Given the description of an element on the screen output the (x, y) to click on. 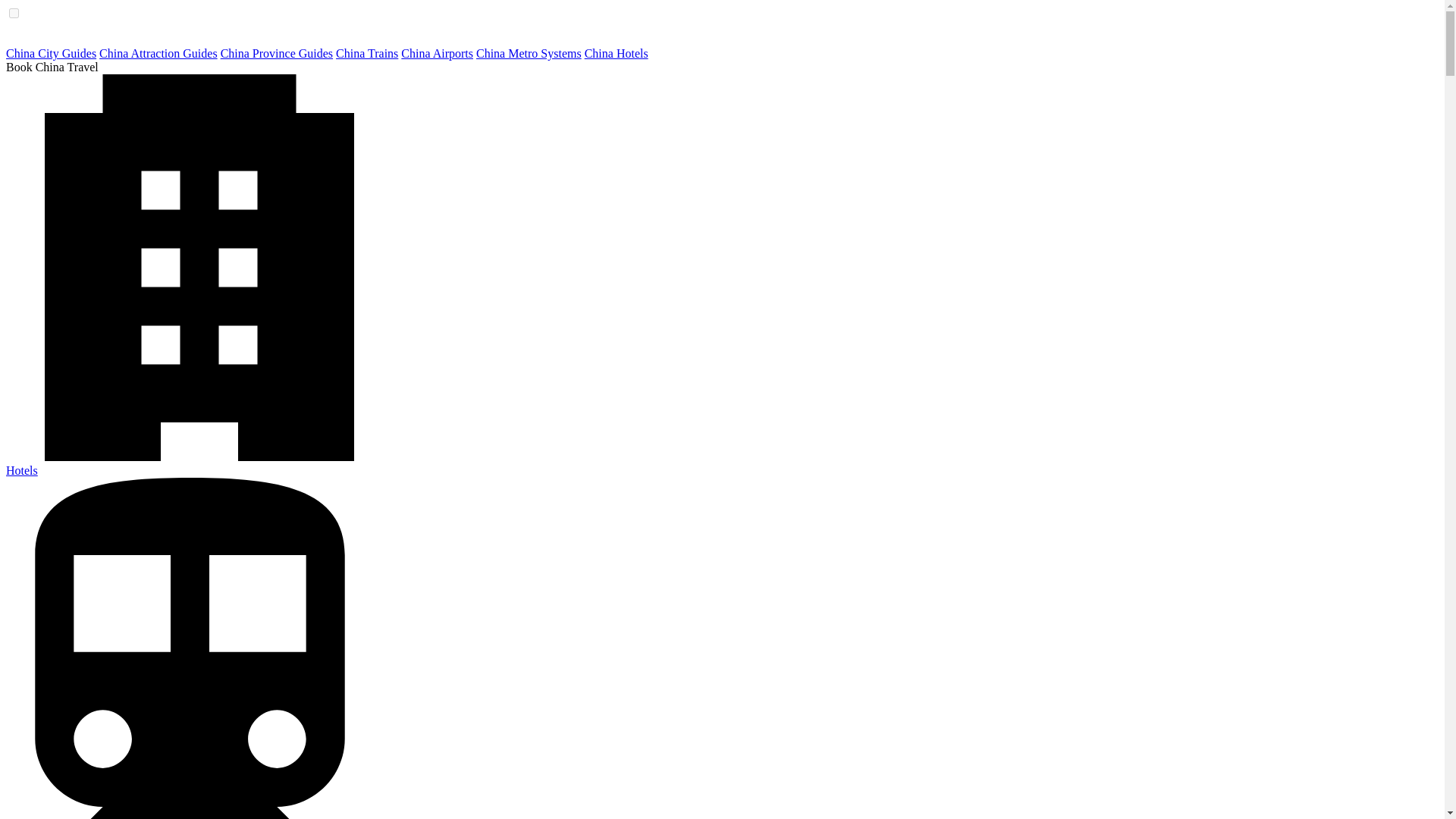
China Hotels (616, 52)
China Attraction Guides (157, 52)
on (13, 13)
China Province Guides (277, 52)
China Trains (366, 52)
China Airports (437, 52)
China Metro Systems (528, 52)
China City Guides (50, 52)
